Given the description of an element on the screen output the (x, y) to click on. 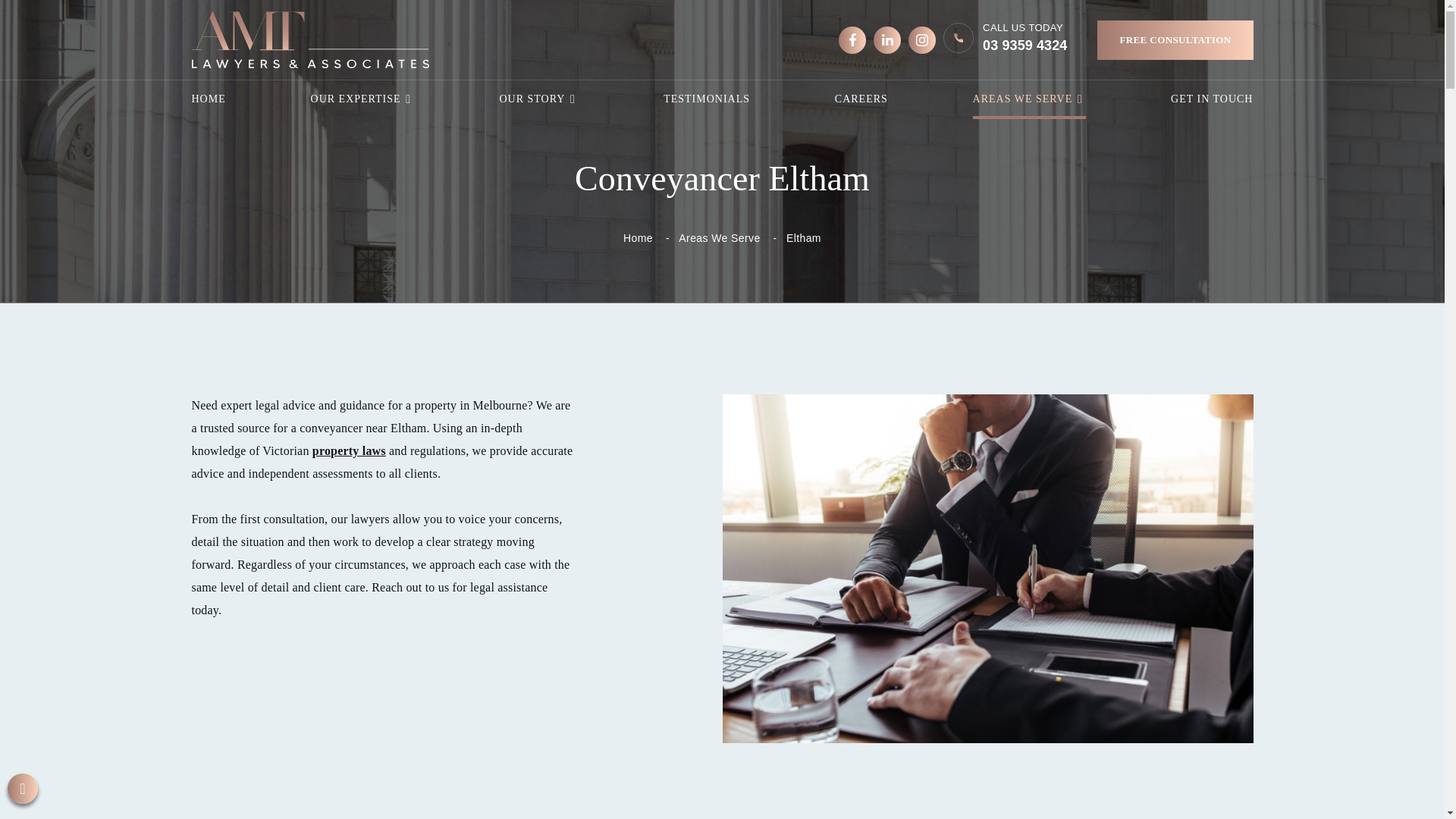
instagram (921, 39)
HOME (1005, 39)
FREE CONSULTATION (207, 98)
phone-call-brown (1174, 39)
OUR STORY (957, 37)
TESTIMONIALS (538, 99)
OUR EXPERTISE (706, 98)
linkedin (362, 99)
